Given the description of an element on the screen output the (x, y) to click on. 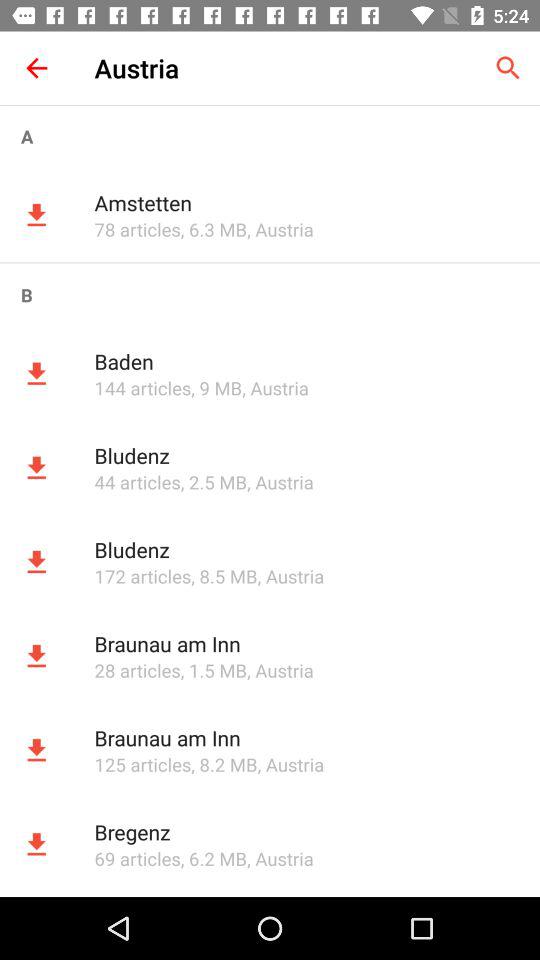
swipe until the 144 articles item (142, 387)
